Given the description of an element on the screen output the (x, y) to click on. 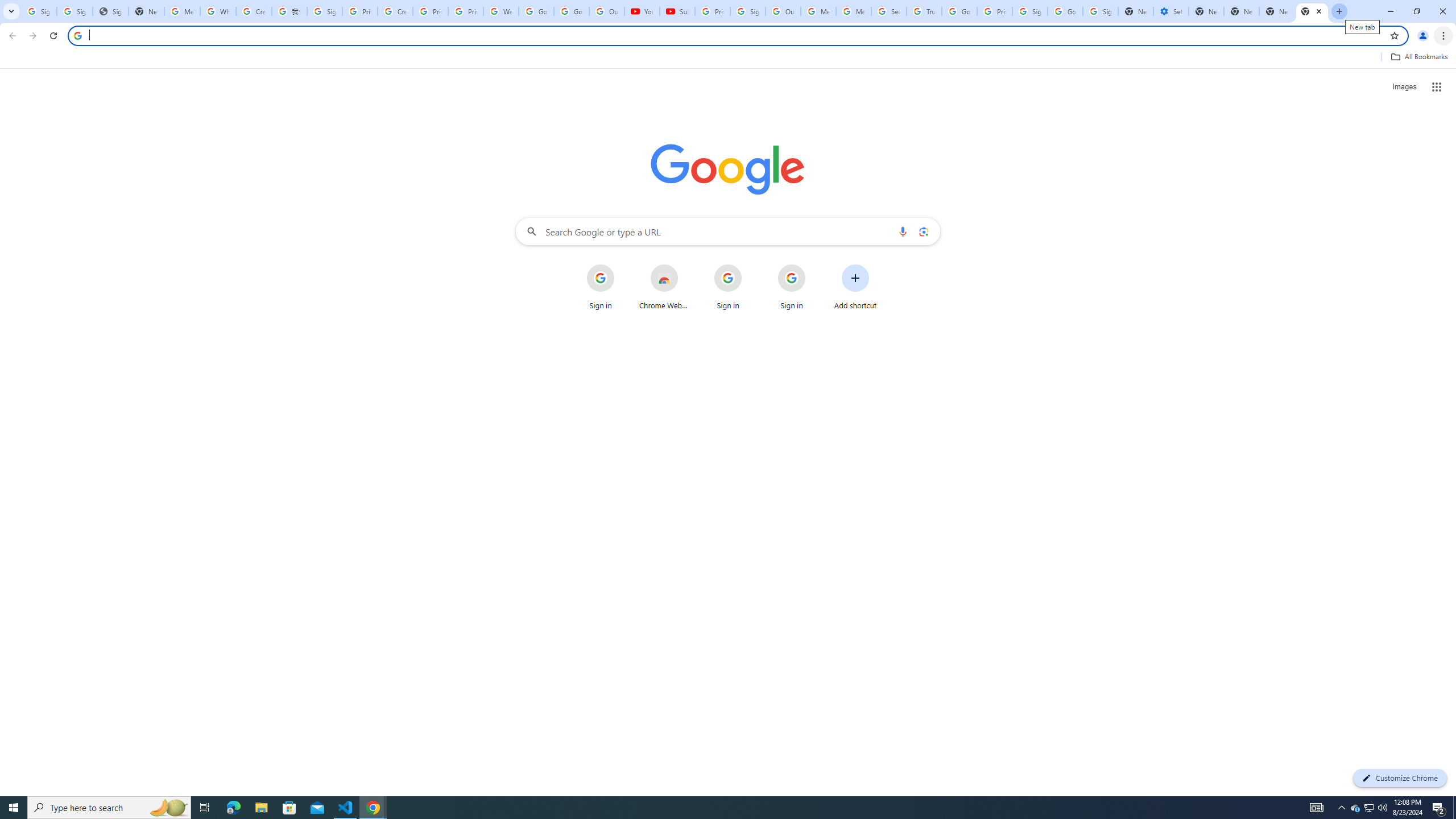
More actions for Chrome Web Store shortcut (686, 265)
New Tab (1205, 11)
Settings - Performance (1170, 11)
